Given the description of an element on the screen output the (x, y) to click on. 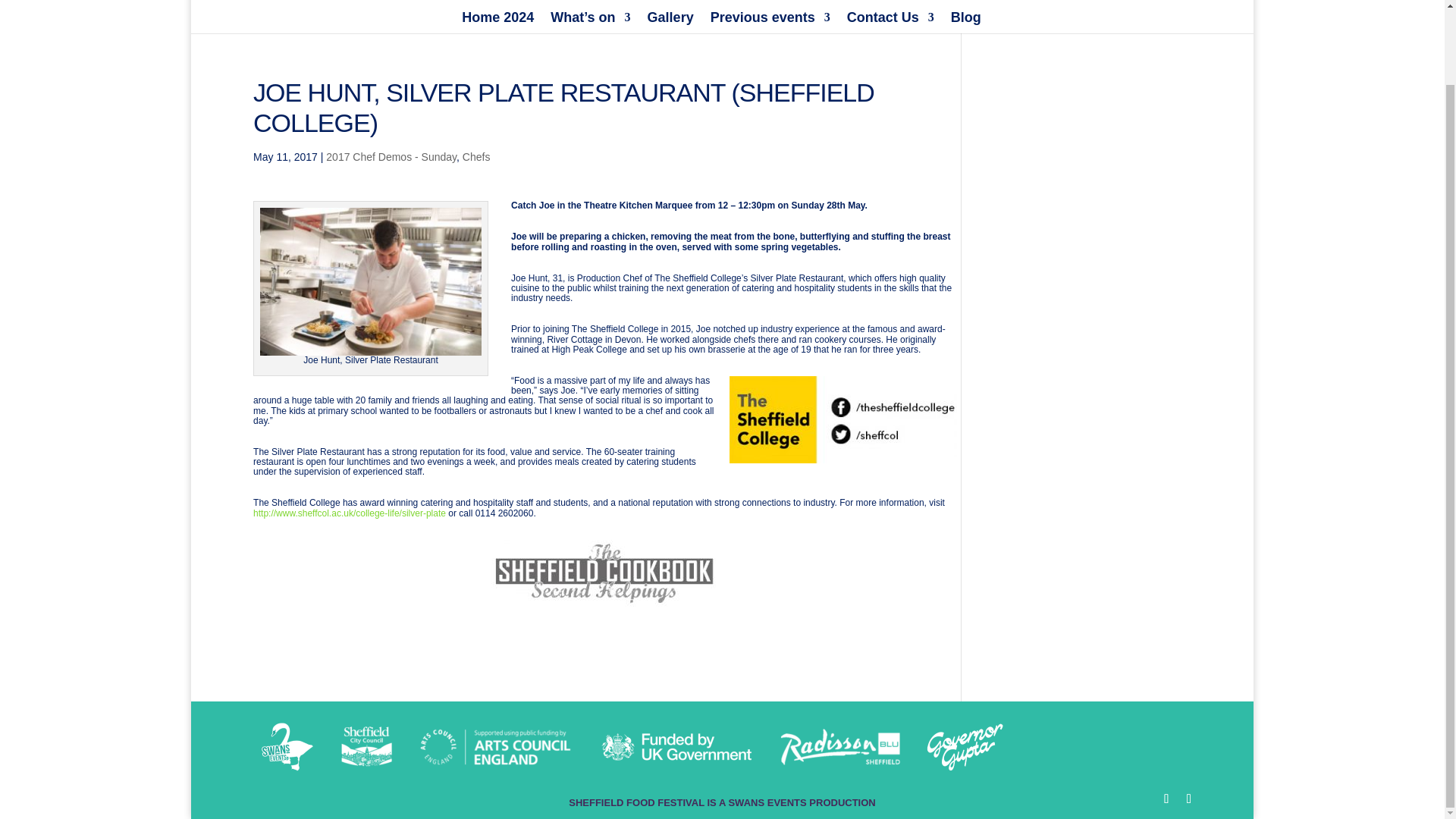
Gallery (670, 22)
Home 2024 (497, 22)
Contact Us (890, 22)
Previous events (769, 22)
Blog (965, 22)
